Given the description of an element on the screen output the (x, y) to click on. 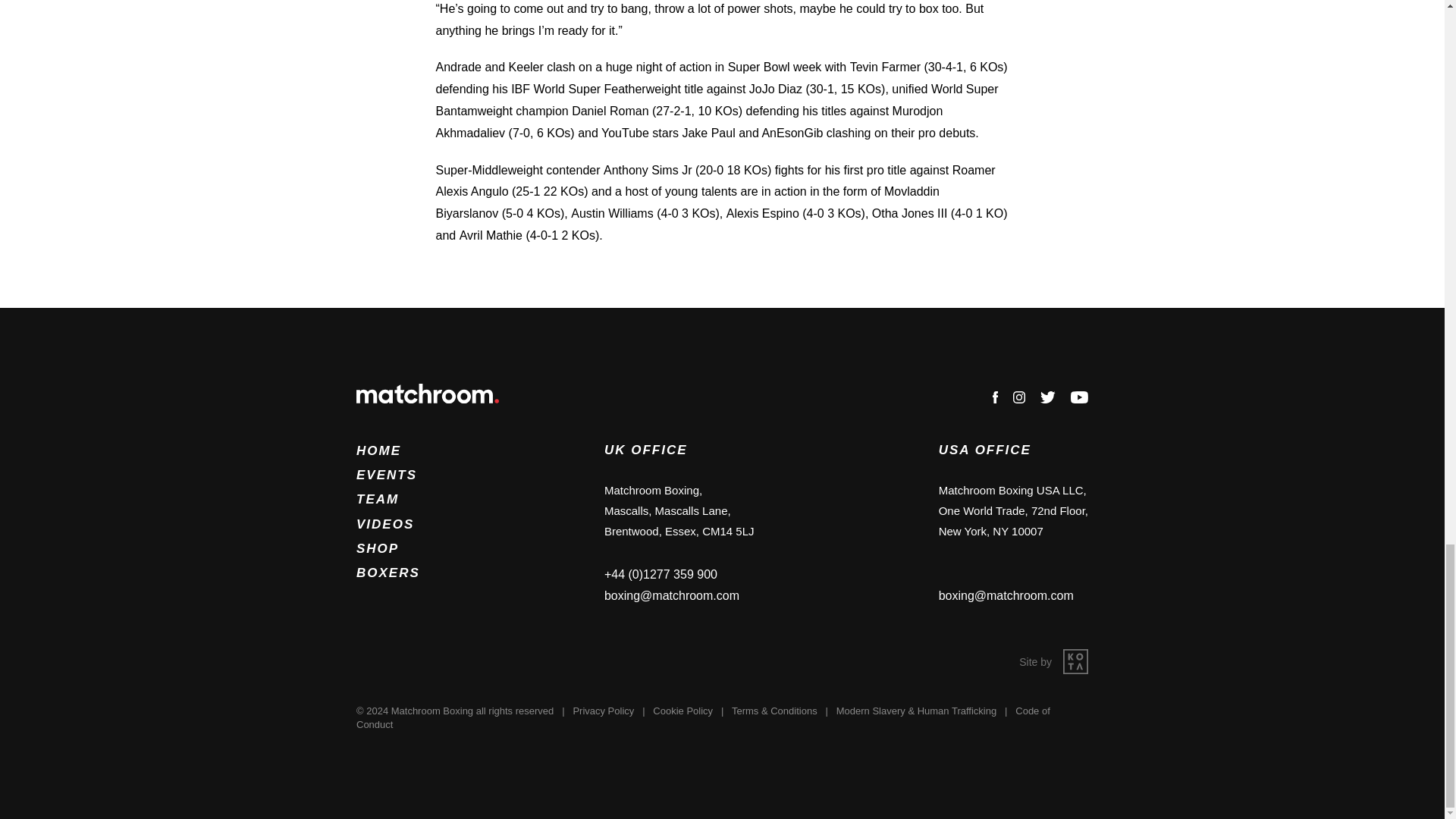
EVENTS (386, 474)
HOME (378, 450)
TEAM (377, 499)
VIDEOS (384, 523)
BOXERS (388, 572)
Site by (1053, 661)
SHOP (377, 548)
Privacy Policy (602, 710)
